Given the description of an element on the screen output the (x, y) to click on. 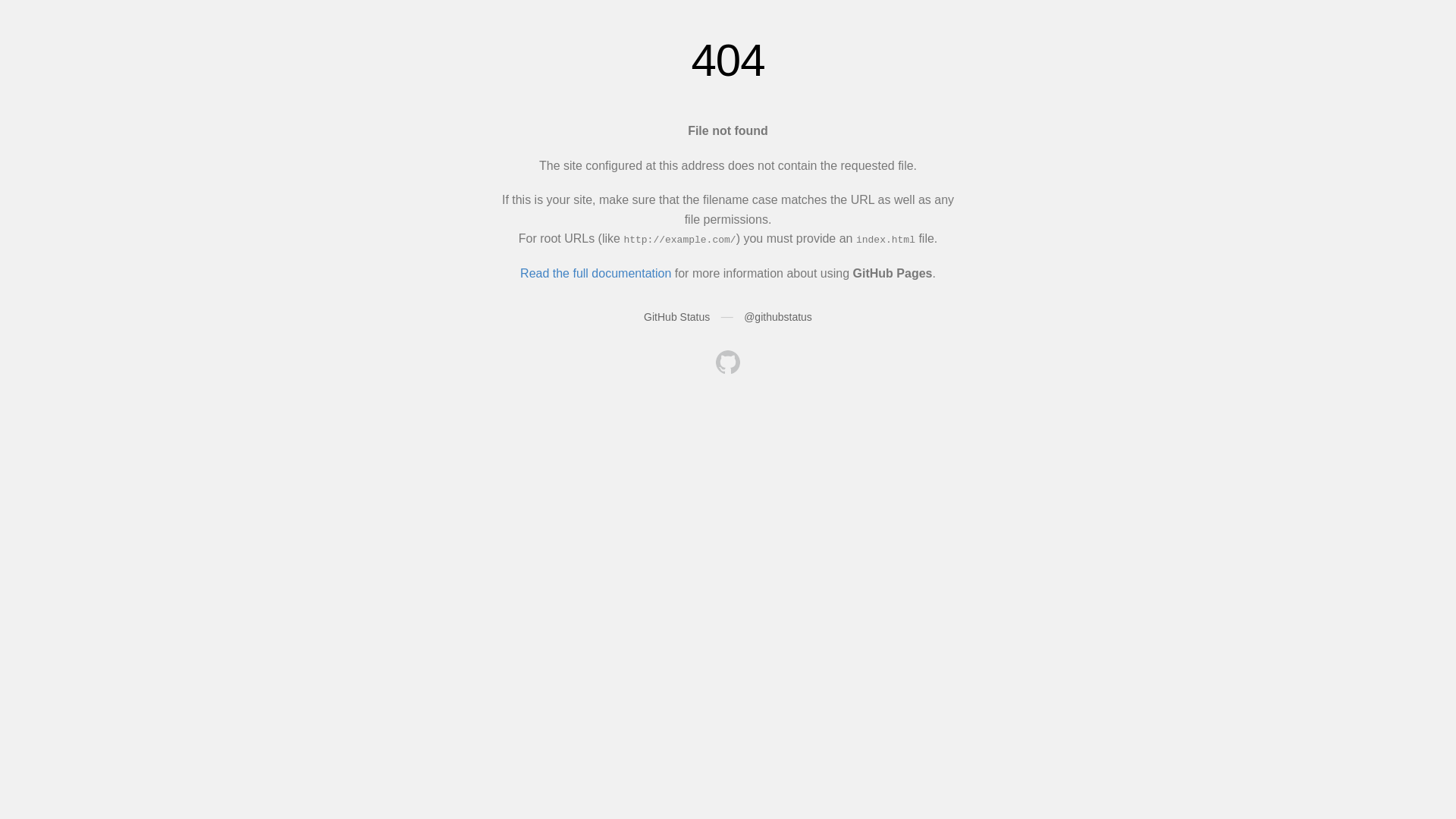
@githubstatus Element type: text (777, 316)
GitHub Status Element type: text (676, 316)
Read the full documentation Element type: text (595, 272)
